Given the description of an element on the screen output the (x, y) to click on. 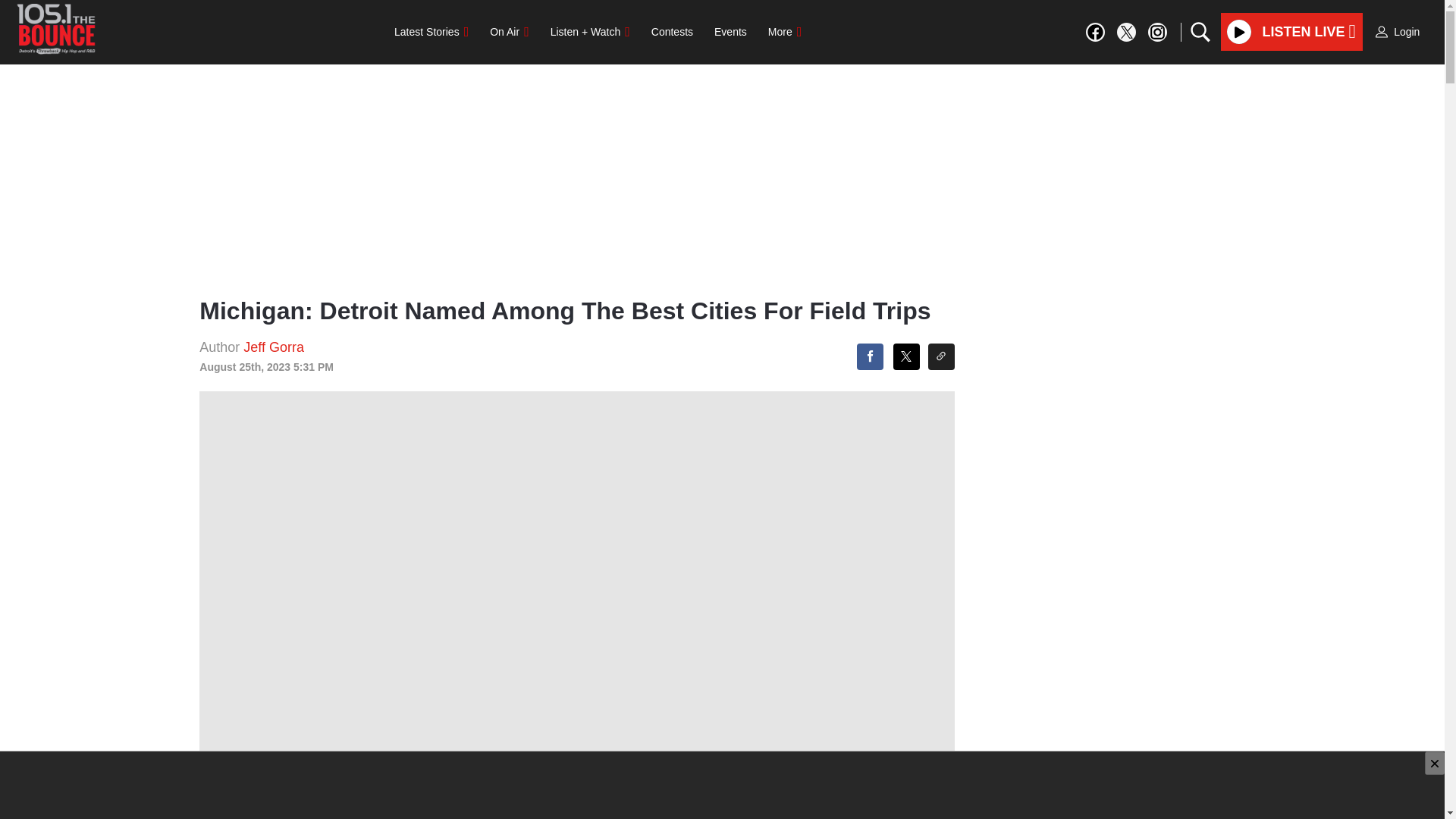
Latest Stories (431, 31)
On Air (508, 31)
Events (730, 31)
Contests (671, 31)
Close AdCheckmark indicating ad close (1434, 763)
Jeff Gorra (273, 346)
More (784, 31)
